Given the description of an element on the screen output the (x, y) to click on. 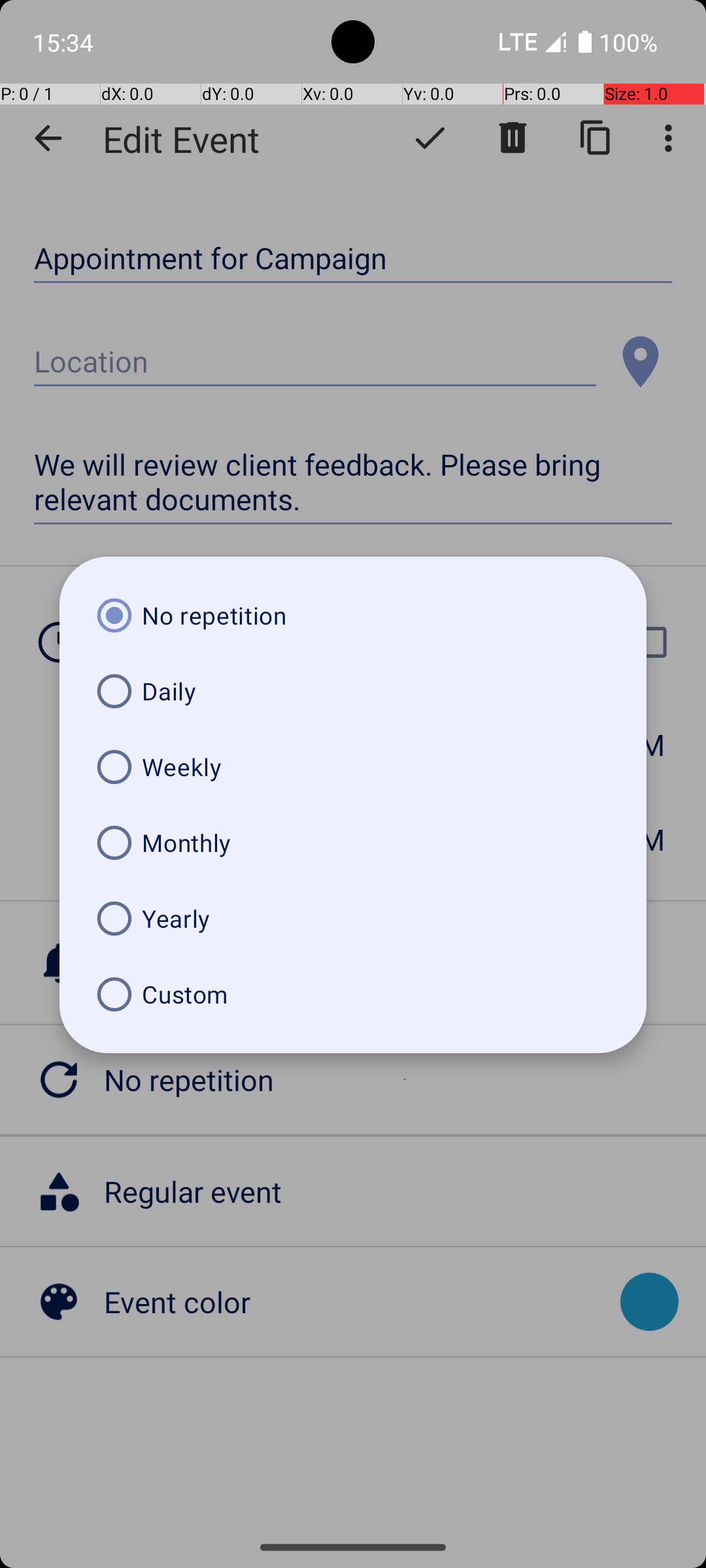
Weekly Element type: android.widget.RadioButton (352, 766)
Yearly Element type: android.widget.RadioButton (352, 918)
